Given the description of an element on the screen output the (x, y) to click on. 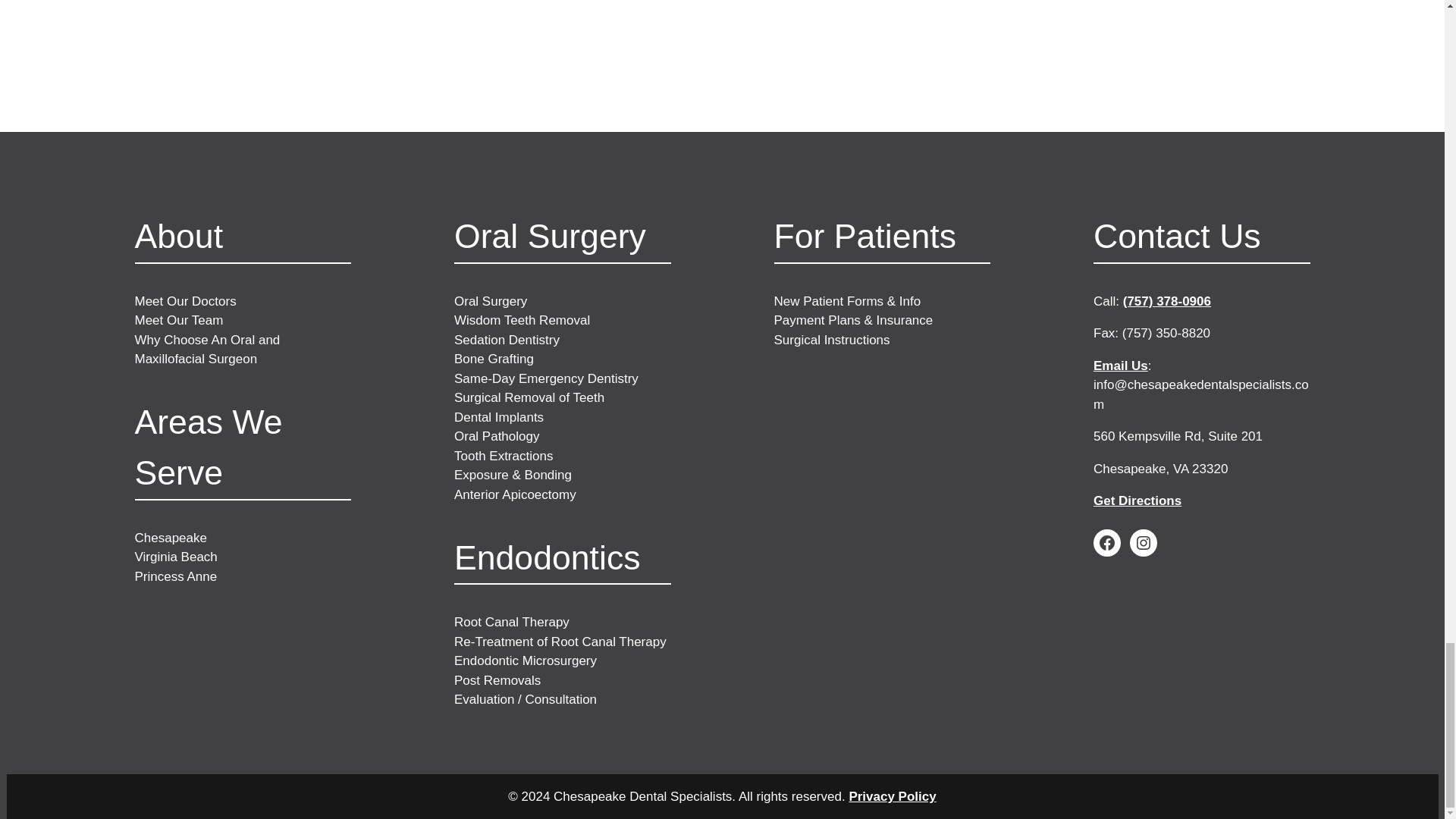
Meet Our Team (179, 319)
Meet Our Doctors (185, 301)
About (179, 235)
